Given the description of an element on the screen output the (x, y) to click on. 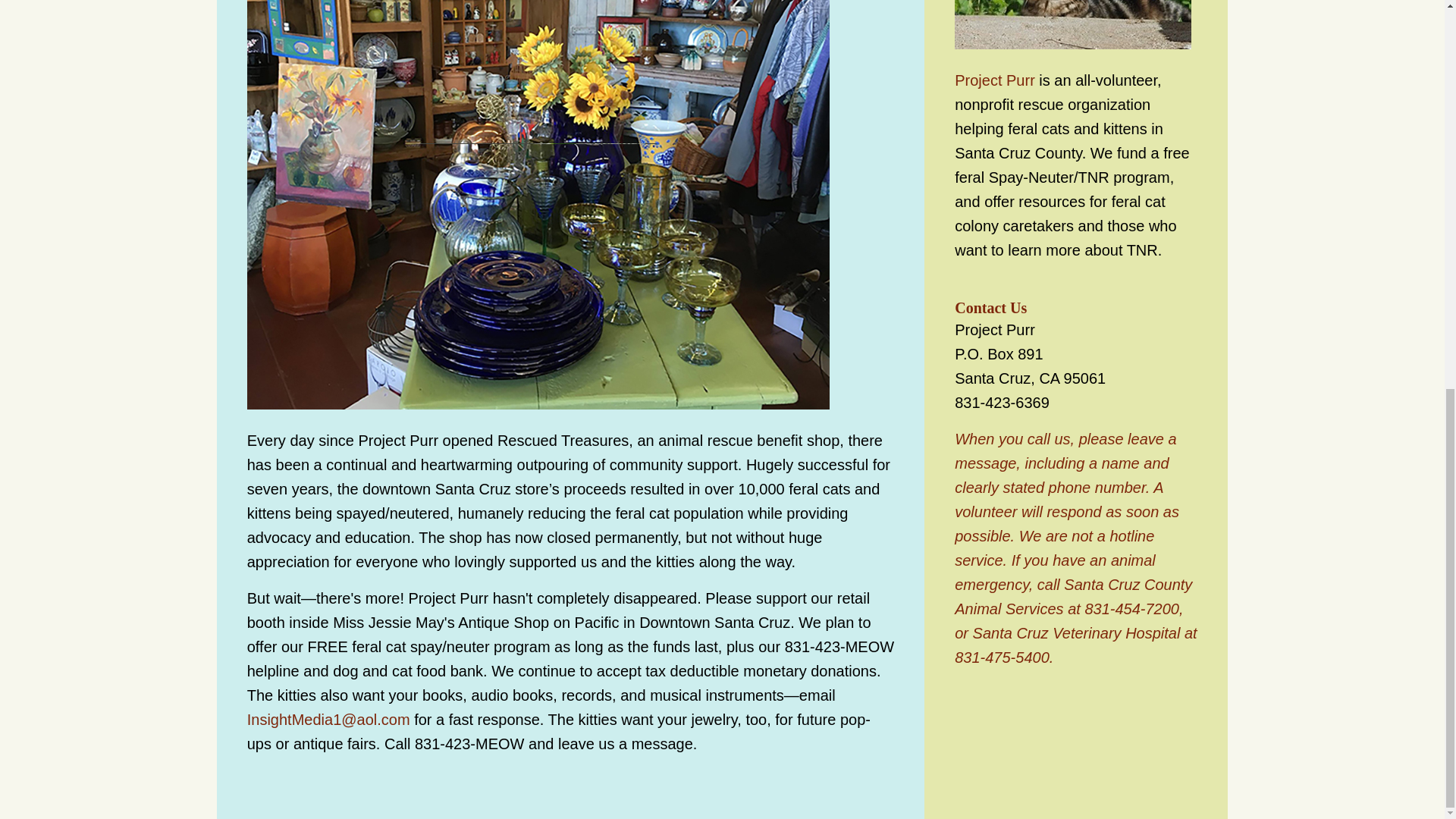
Project Purr (995, 80)
